Given the description of an element on the screen output the (x, y) to click on. 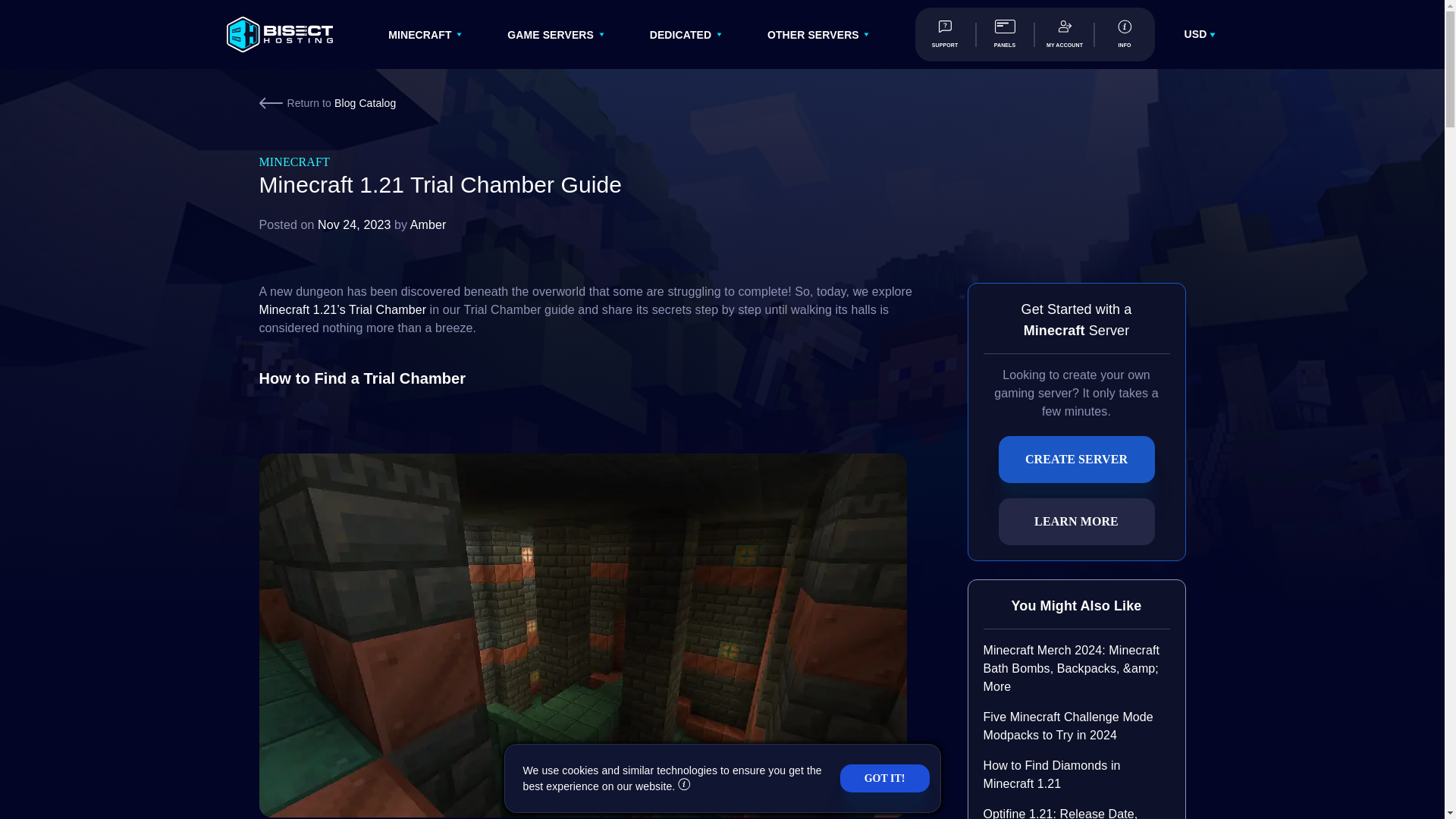
GAME SERVERS (550, 34)
MINECRAFT (419, 34)
Learn more (684, 786)
